Given the description of an element on the screen output the (x, y) to click on. 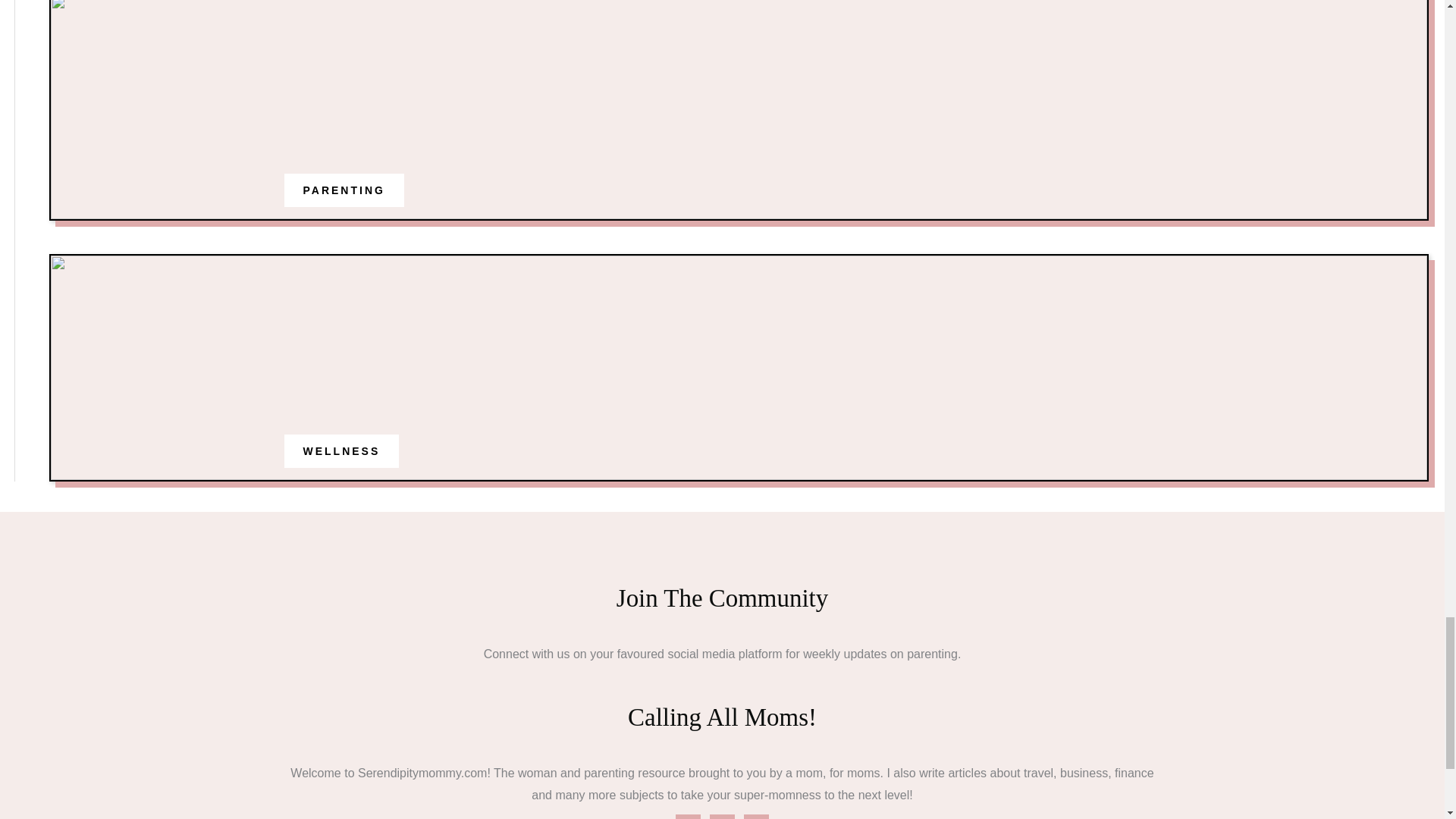
PARENTING (344, 190)
WELLNESS (341, 451)
